Given the description of an element on the screen output the (x, y) to click on. 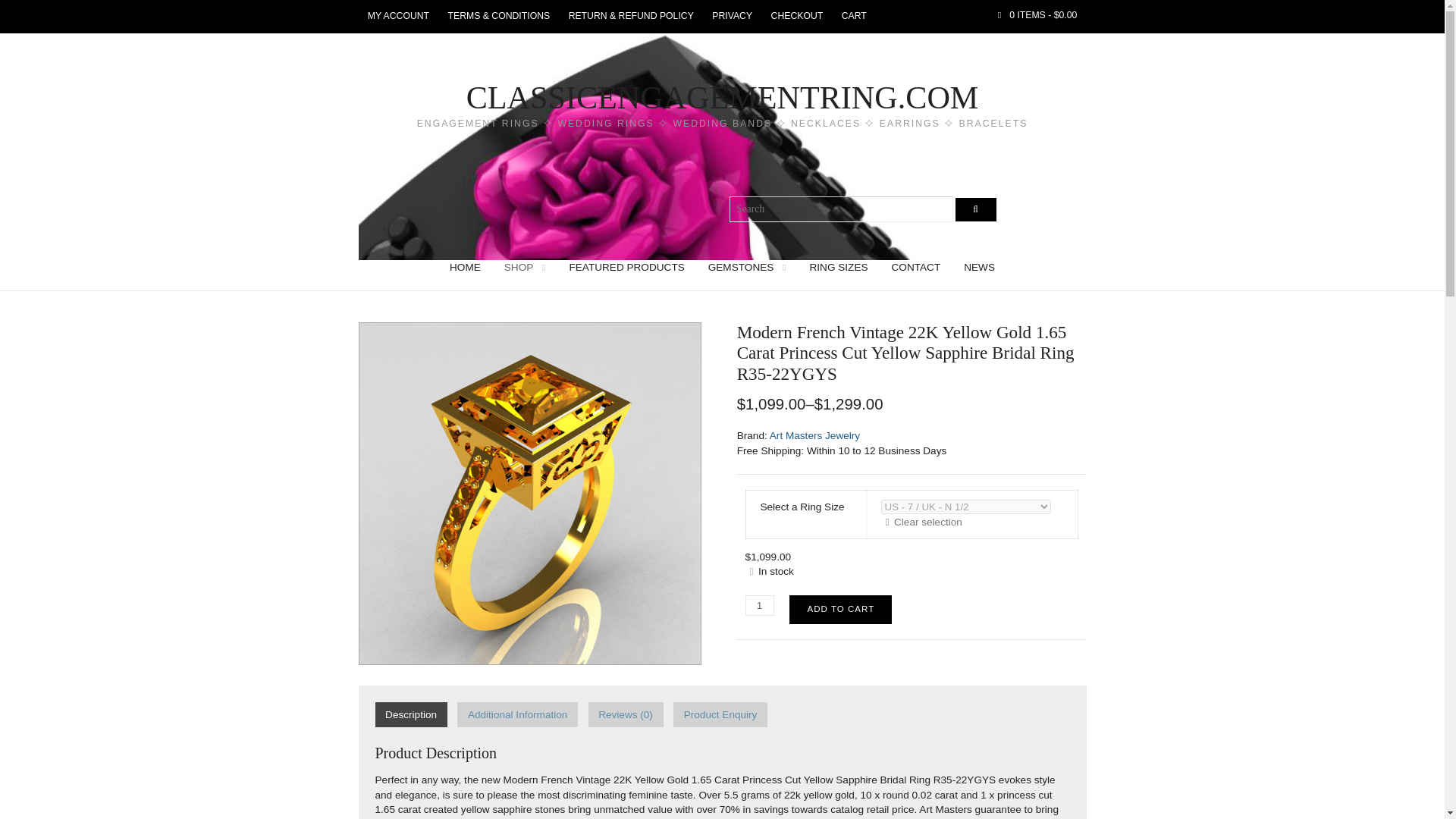
Qty (759, 604)
CART (853, 16)
PRIVACY (732, 16)
MY ACCOUNT (398, 16)
CHECKOUT (796, 16)
HOME (464, 267)
1 (759, 604)
Search (975, 209)
SHOP (524, 267)
CLASSICENGAGEMENTRING.COM (721, 97)
View your shopping cart (1037, 15)
Art Masters Jewelry (815, 435)
